Given the description of an element on the screen output the (x, y) to click on. 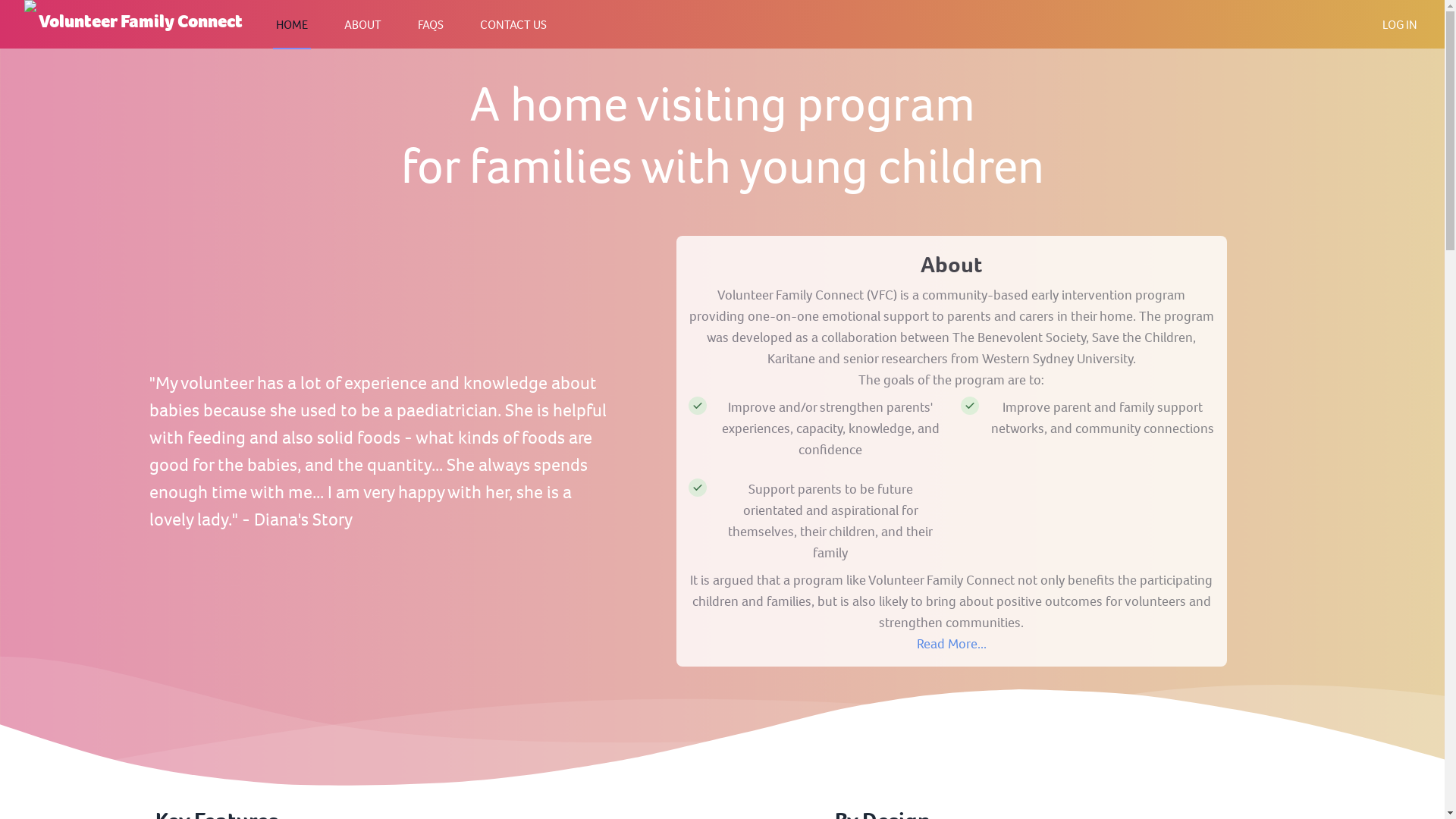
LOG IN Element type: text (1399, 24)
Read More... Element type: text (951, 643)
Volunteer Family Connect Element type: text (133, 23)
